Given the description of an element on the screen output the (x, y) to click on. 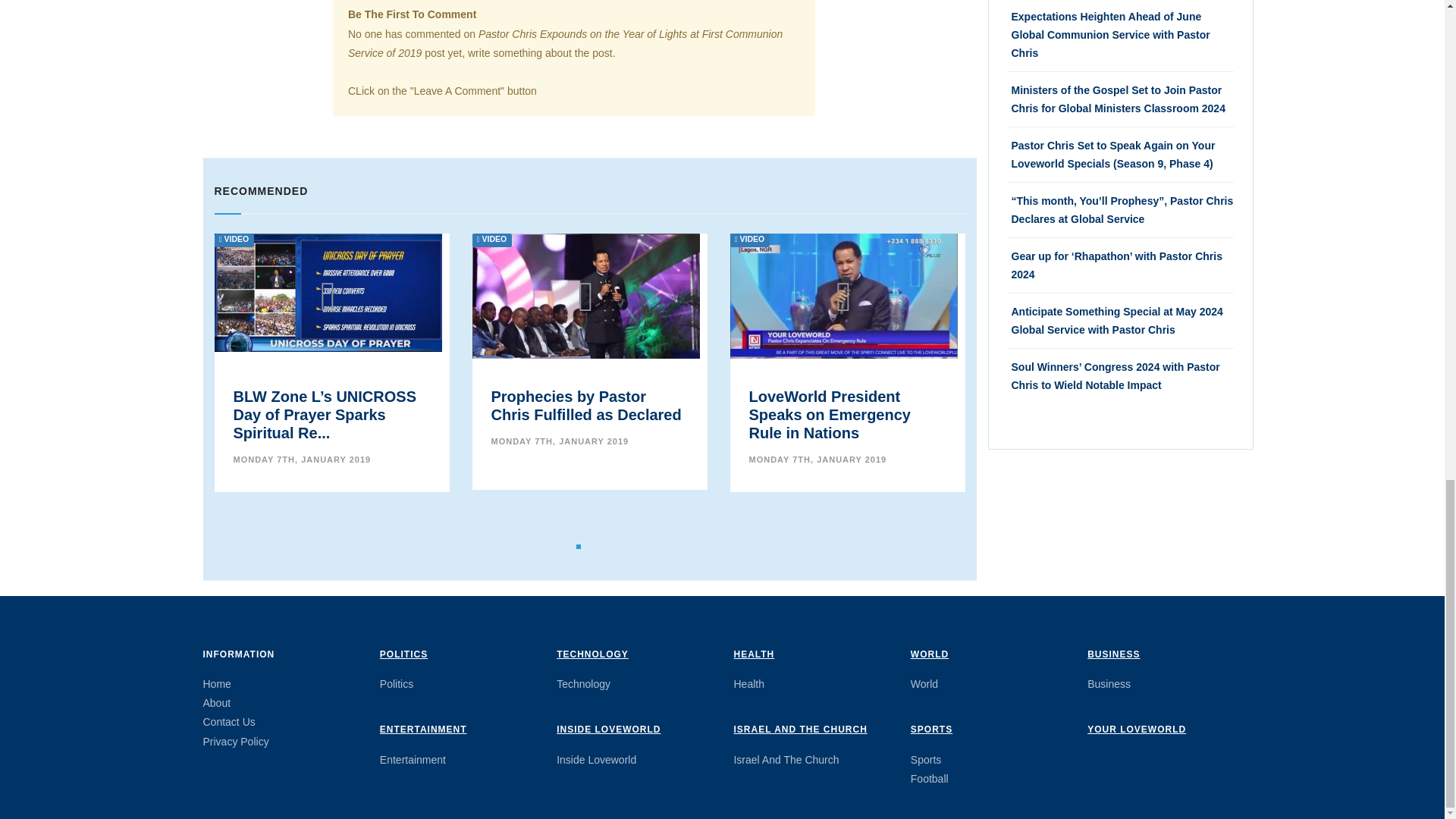
LoveWorld President Speaks on Emergency Rule in Nations (830, 414)
Prophecies by Pastor Chris Fulfilled as Declared (584, 308)
VIDEO (327, 291)
LoveWorld President Speaks on Emergency Rule in Nations (842, 295)
Prophecies by Pastor Chris Fulfilled as Declared (586, 405)
VIDEO (584, 308)
Prophecies by Pastor Chris Fulfilled as Declared (586, 405)
LoveWorld President Speaks on Emergency Rule in Nations (830, 414)
VIDEO (842, 295)
